Given the description of an element on the screen output the (x, y) to click on. 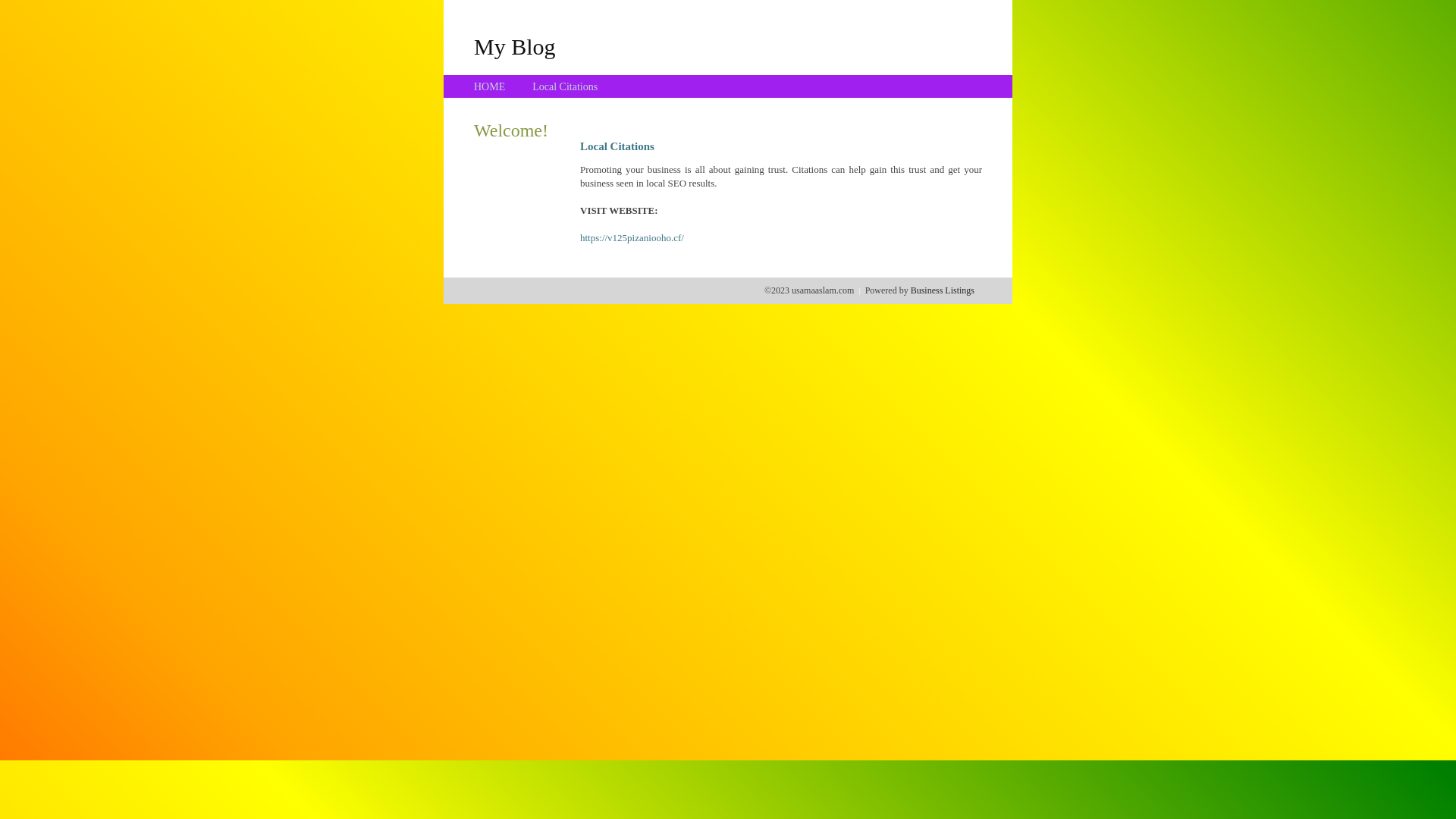
HOME Element type: text (489, 86)
Business Listings Element type: text (942, 290)
https://v125pizaniooho.cf/ Element type: text (632, 237)
My Blog Element type: text (514, 46)
Local Citations Element type: text (564, 86)
